Given the description of an element on the screen output the (x, y) to click on. 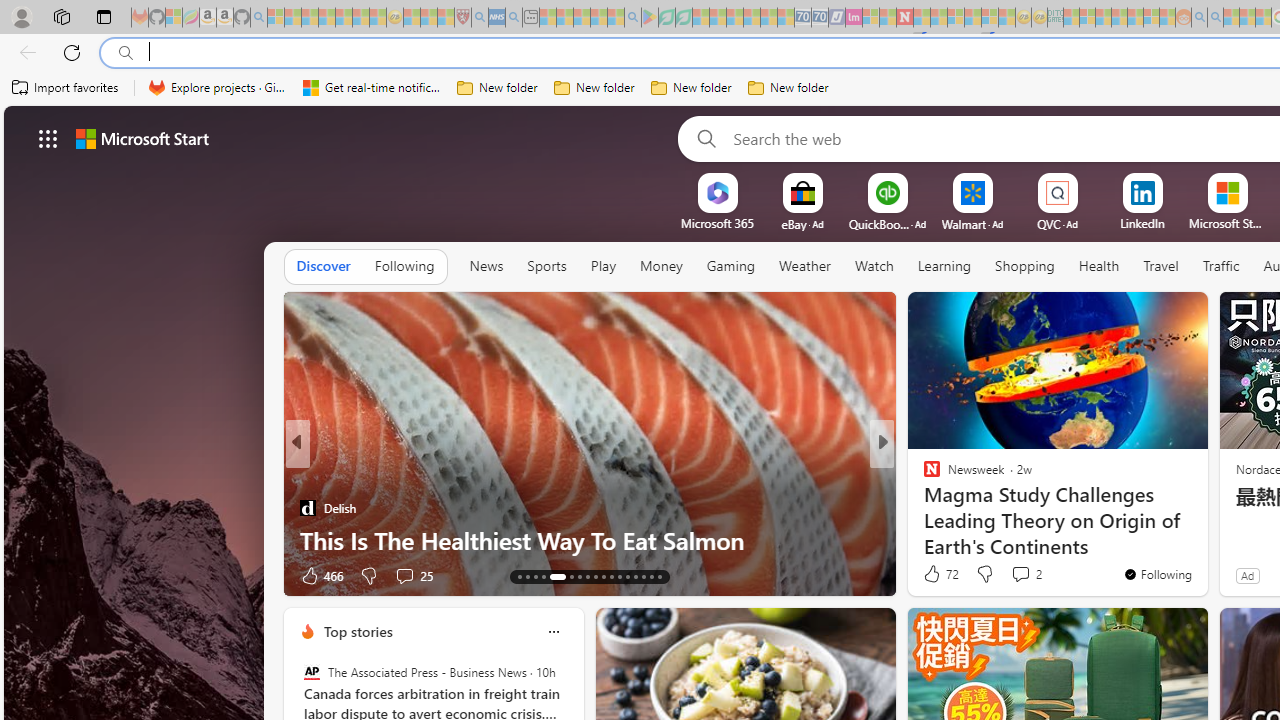
Utah sues federal government - Search - Sleeping (1215, 17)
Watch (874, 267)
News (485, 267)
Learning (944, 265)
list of asthma inhalers uk - Search - Sleeping (479, 17)
Travel (1160, 267)
AutomationID: tab-29 (659, 576)
Traffic (1220, 265)
Import favorites (65, 88)
Expert Portfolios - Sleeping (1119, 17)
